Given the description of an element on the screen output the (x, y) to click on. 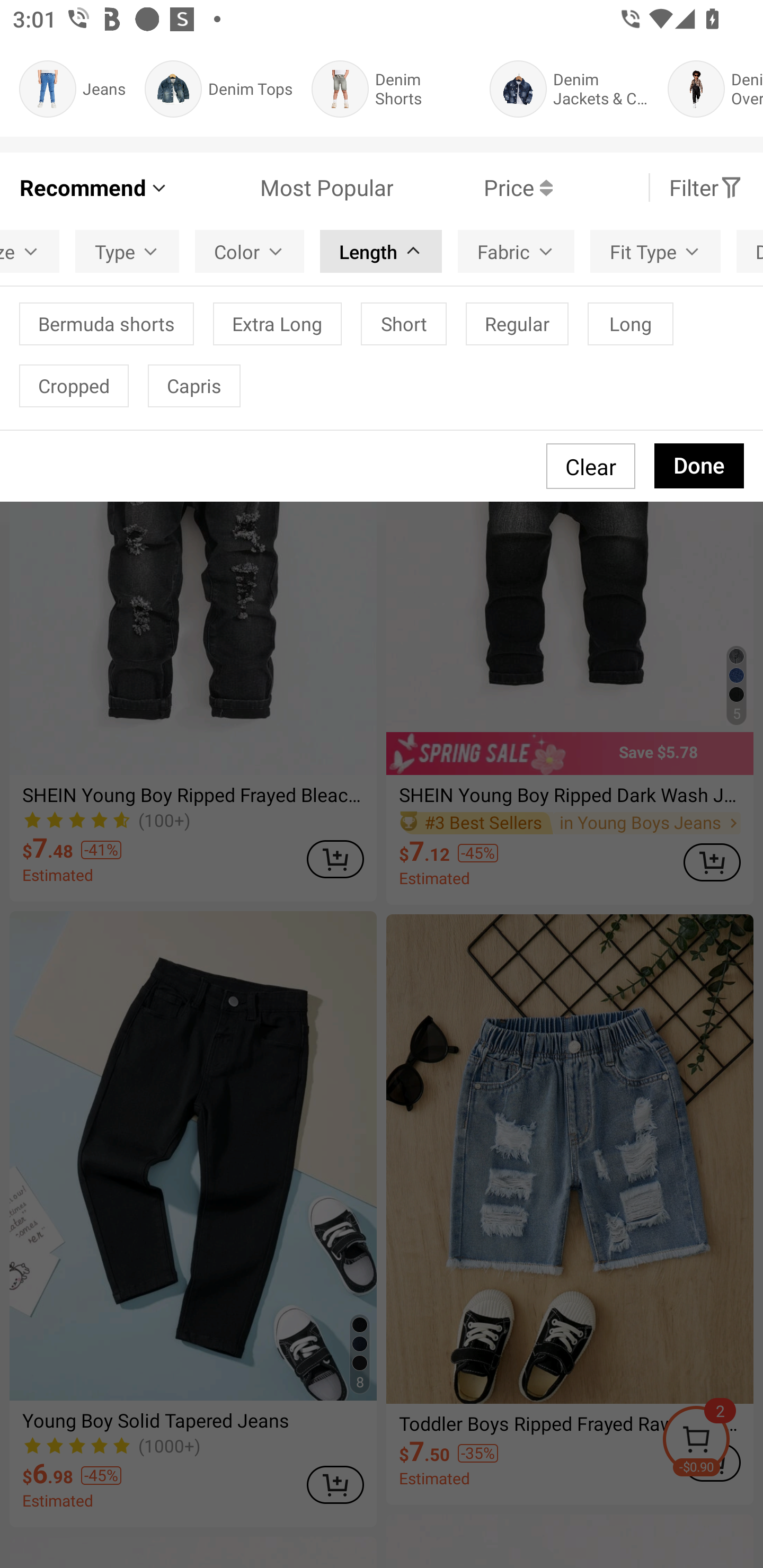
Jeans (72, 89)
Denim Tops (218, 89)
Denim Shorts (390, 89)
Denim Jackets & Coats (568, 89)
Denim Overalls & Jumpsuits (715, 89)
Recommend (94, 187)
Most Popular (280, 187)
Price (472, 187)
Filter (705, 187)
Type (127, 251)
Color (249, 251)
Length (380, 251)
Fabric (515, 251)
Fit Type (655, 251)
